Given the description of an element on the screen output the (x, y) to click on. 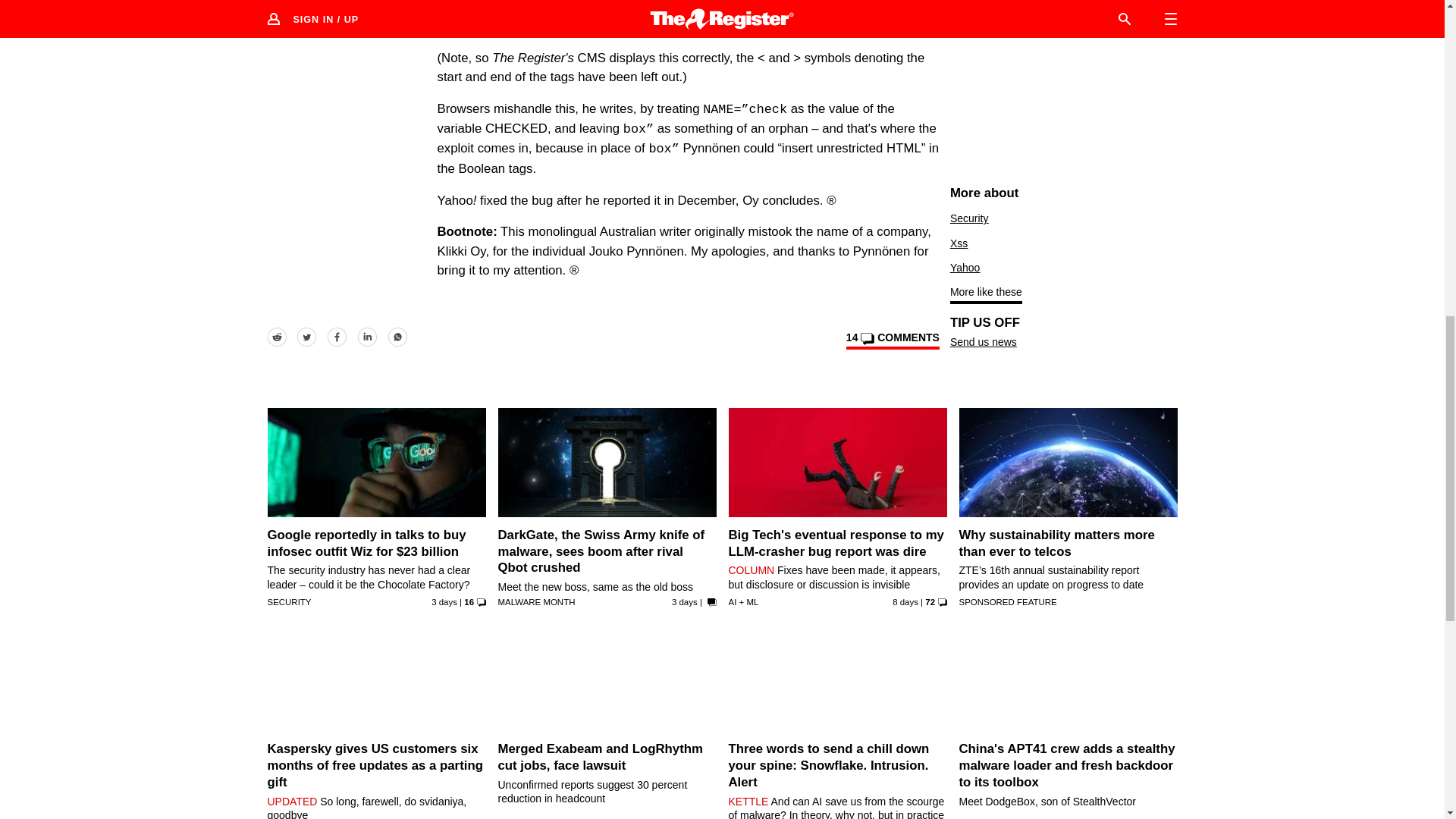
15 Jul 2024 4:39 (443, 601)
16 Jul 2024 0:15 (684, 601)
10 Jul 2024 7:25 (905, 601)
View comments on this article (892, 340)
